Given the description of an element on the screen output the (x, y) to click on. 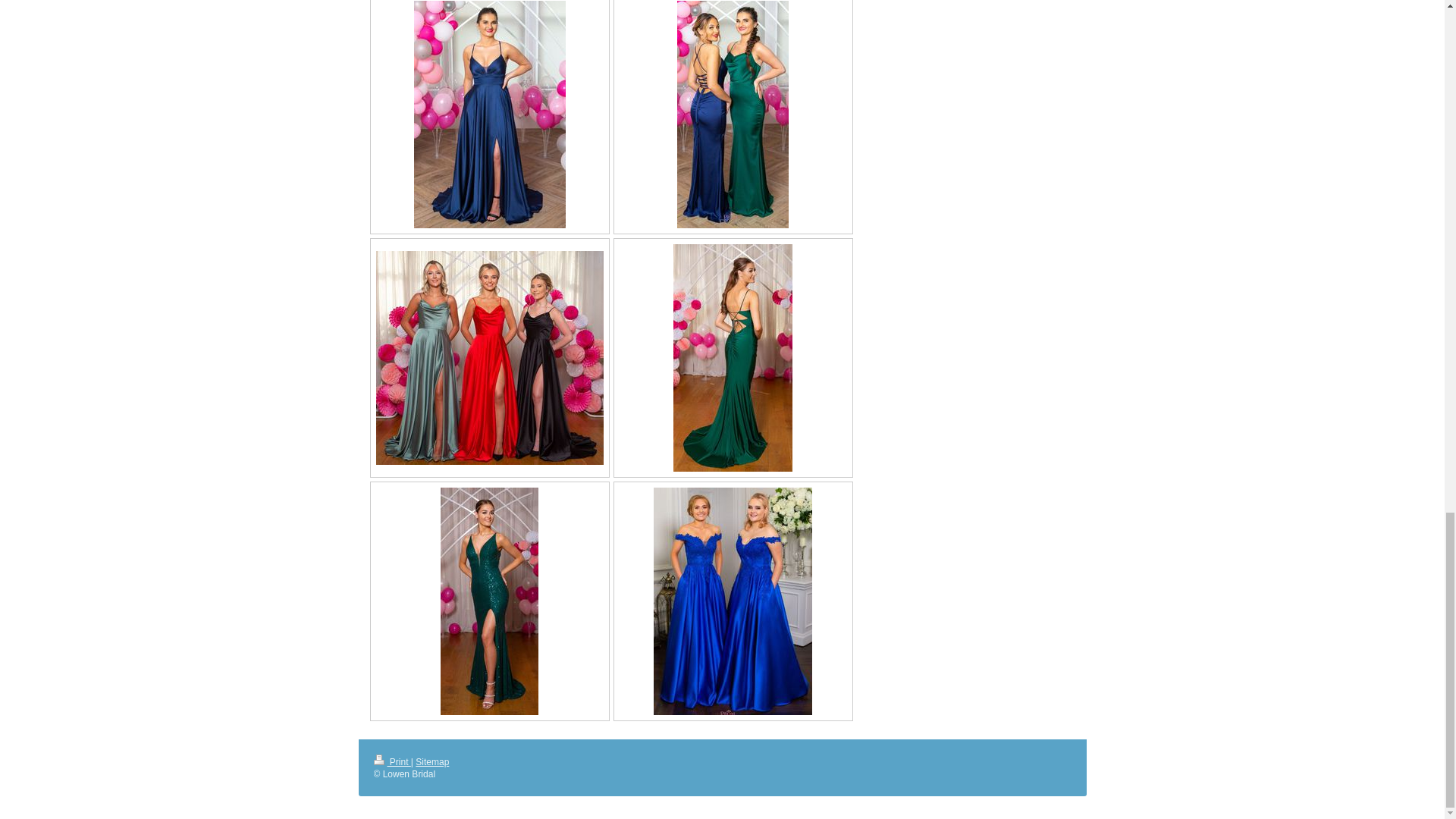
Sitemap (431, 761)
Print (391, 761)
